Given the description of an element on the screen output the (x, y) to click on. 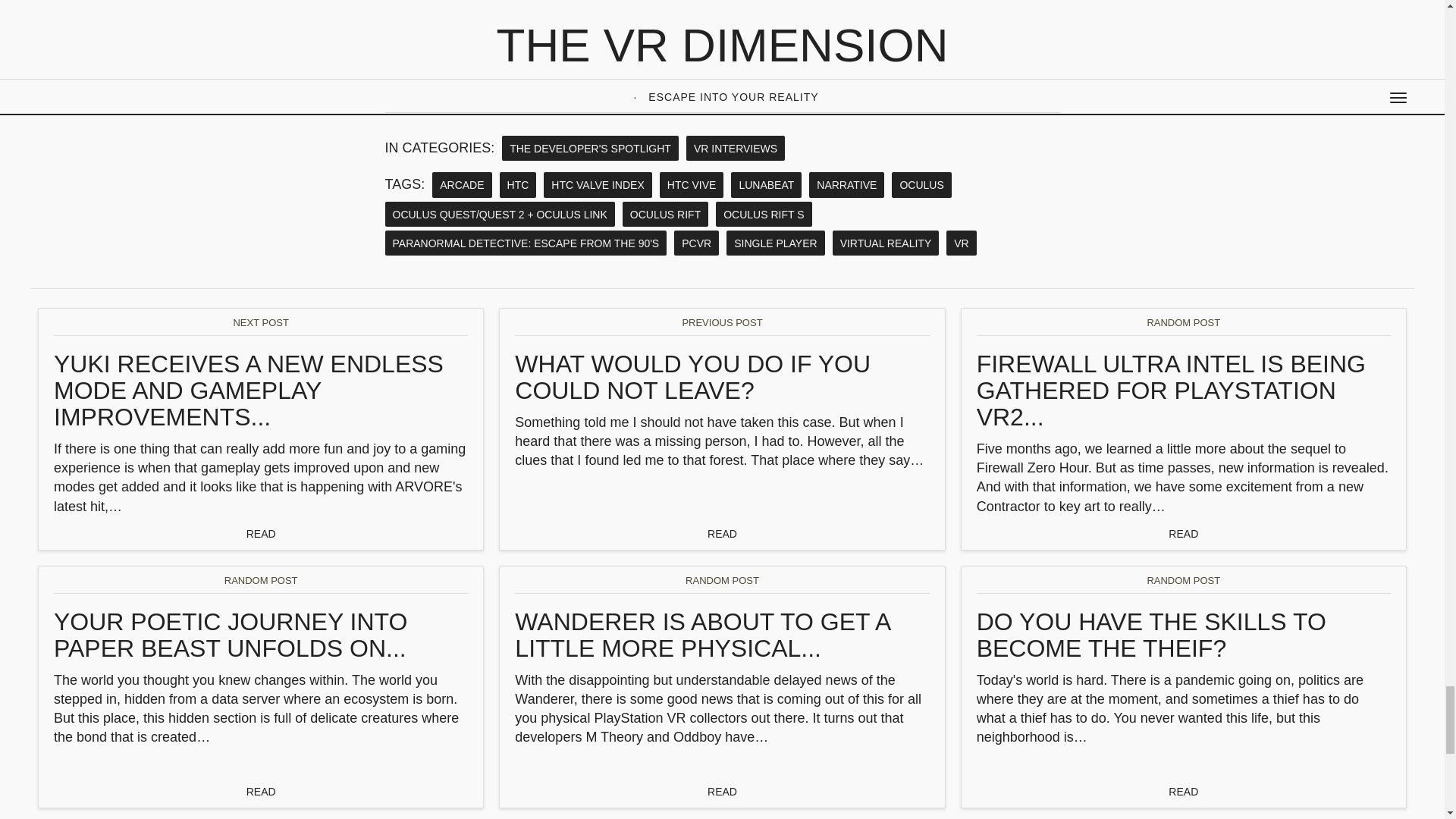
LUNABEAT (766, 184)
HTC VALVE INDEX (596, 184)
ARCADE (462, 184)
HTC (518, 184)
OCULUS (920, 184)
VR INTERVIEWS (734, 147)
NARRATIVE (846, 184)
HTC VIVE (691, 184)
THE DEVELOPER'S SPOTLIGHT (590, 147)
